Given the description of an element on the screen output the (x, y) to click on. 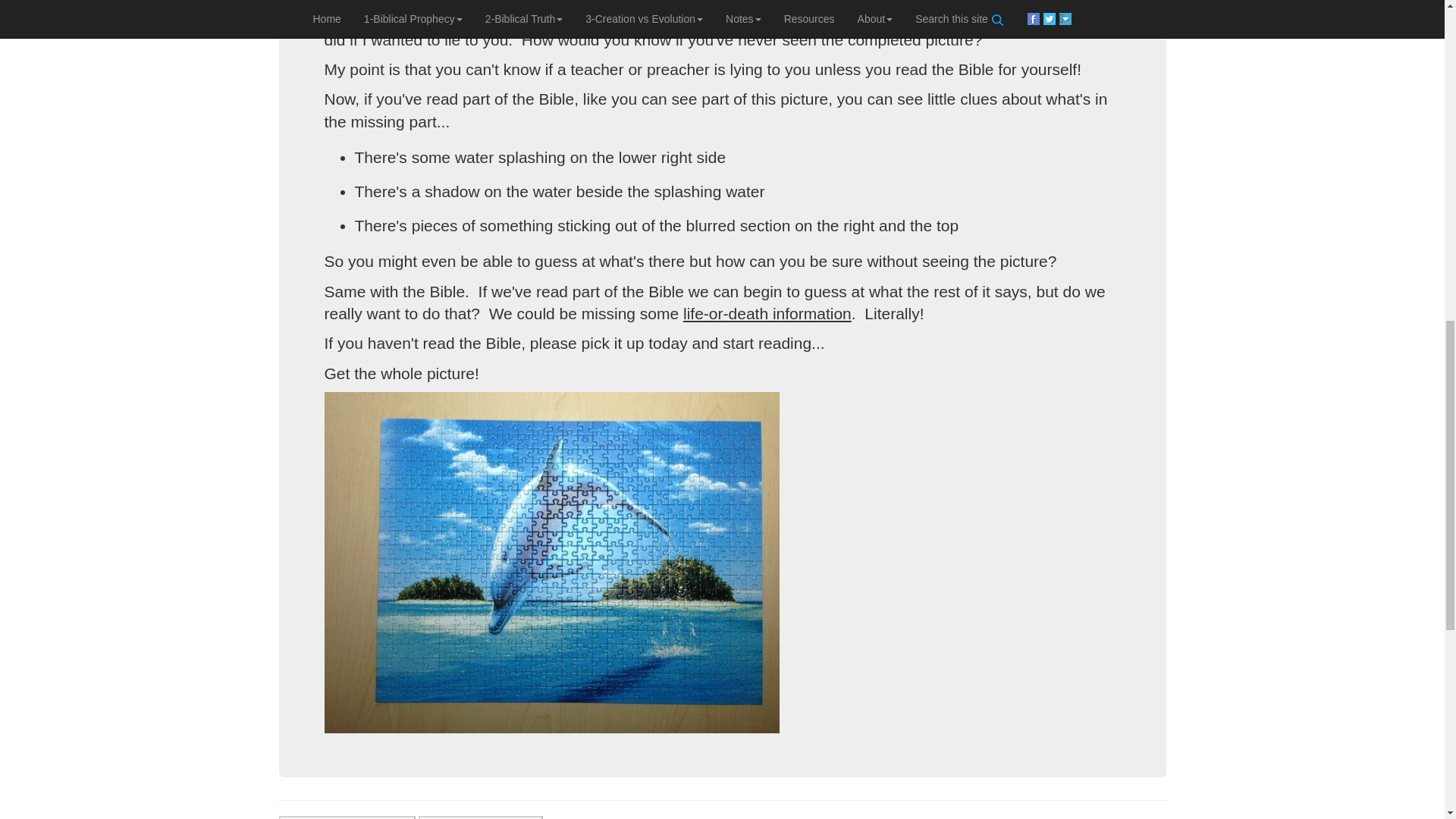
The Bible doesn't say that! (347, 817)
Theology vs Philosophy (481, 817)
